Given the description of an element on the screen output the (x, y) to click on. 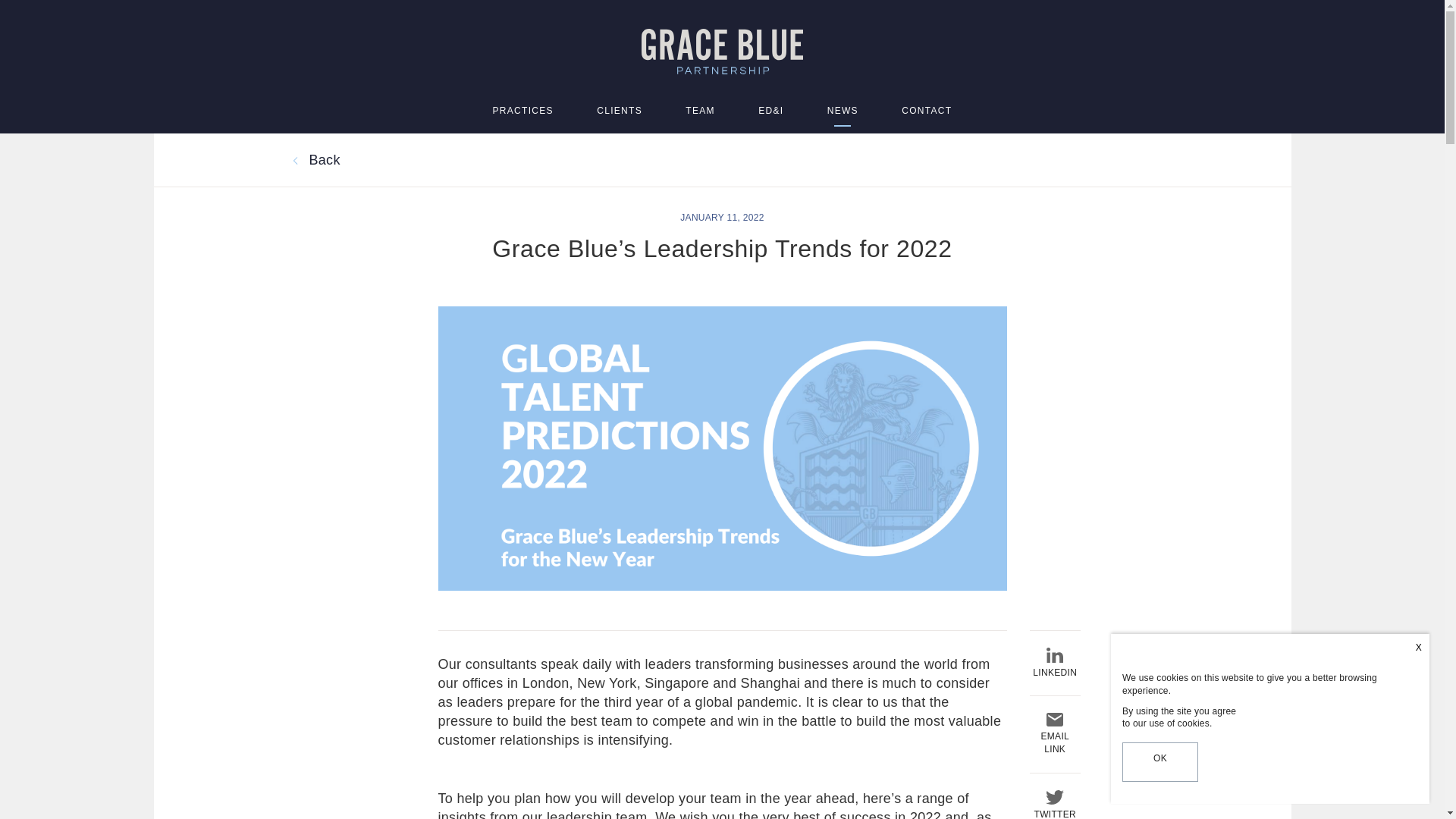
TEAM (699, 110)
TWITTER (1054, 805)
Back (314, 159)
CLIENTS (619, 110)
LINKEDIN (1054, 664)
EMAIL LINK (1054, 734)
CONTACT (926, 110)
PRACTICES (523, 110)
NEWS (843, 110)
